Given the description of an element on the screen output the (x, y) to click on. 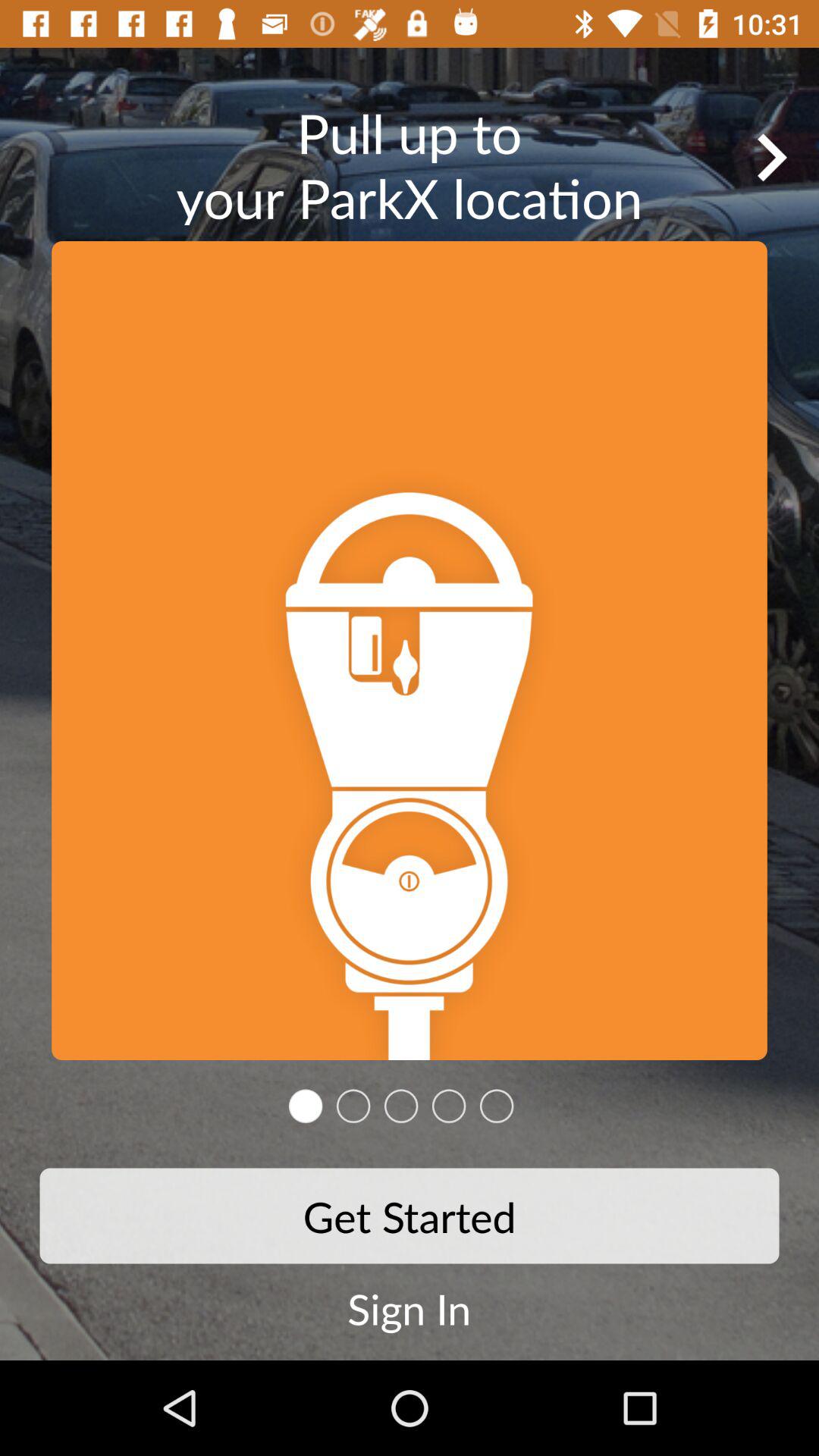
go forward (771, 157)
